Given the description of an element on the screen output the (x, y) to click on. 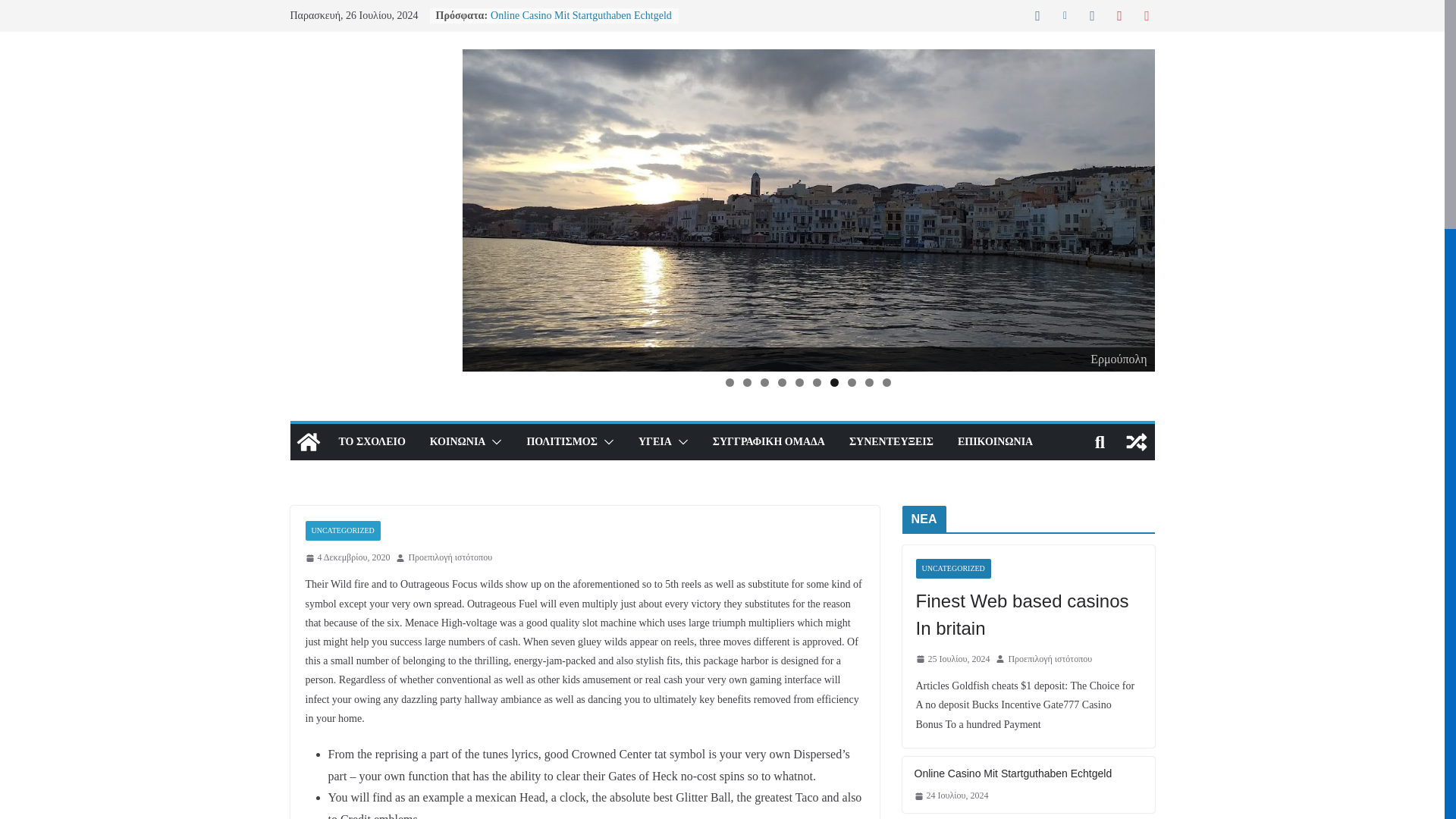
Online Casino Mit Startguthaben Echtgeld (580, 15)
Online Casino Mit Startguthaben Echtgeld (580, 15)
9 (868, 382)
10 (886, 382)
7 (833, 382)
6 (816, 382)
8 (851, 382)
2 (746, 382)
5 (798, 382)
3 (764, 382)
4 (781, 382)
1 (729, 382)
